Given the description of an element on the screen output the (x, y) to click on. 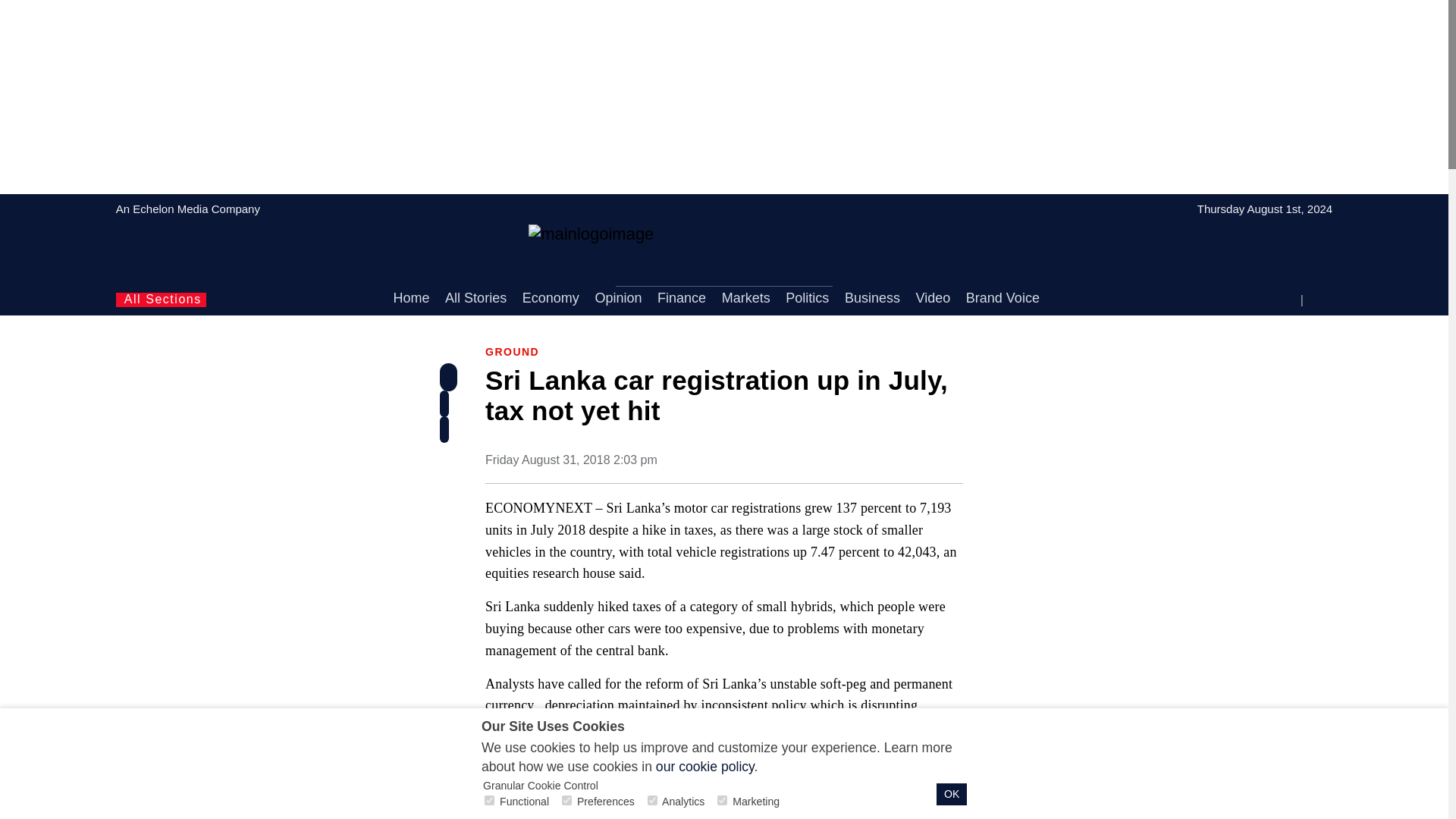
1 (721, 800)
1 (652, 800)
1 (489, 800)
1 (567, 800)
